Given the description of an element on the screen output the (x, y) to click on. 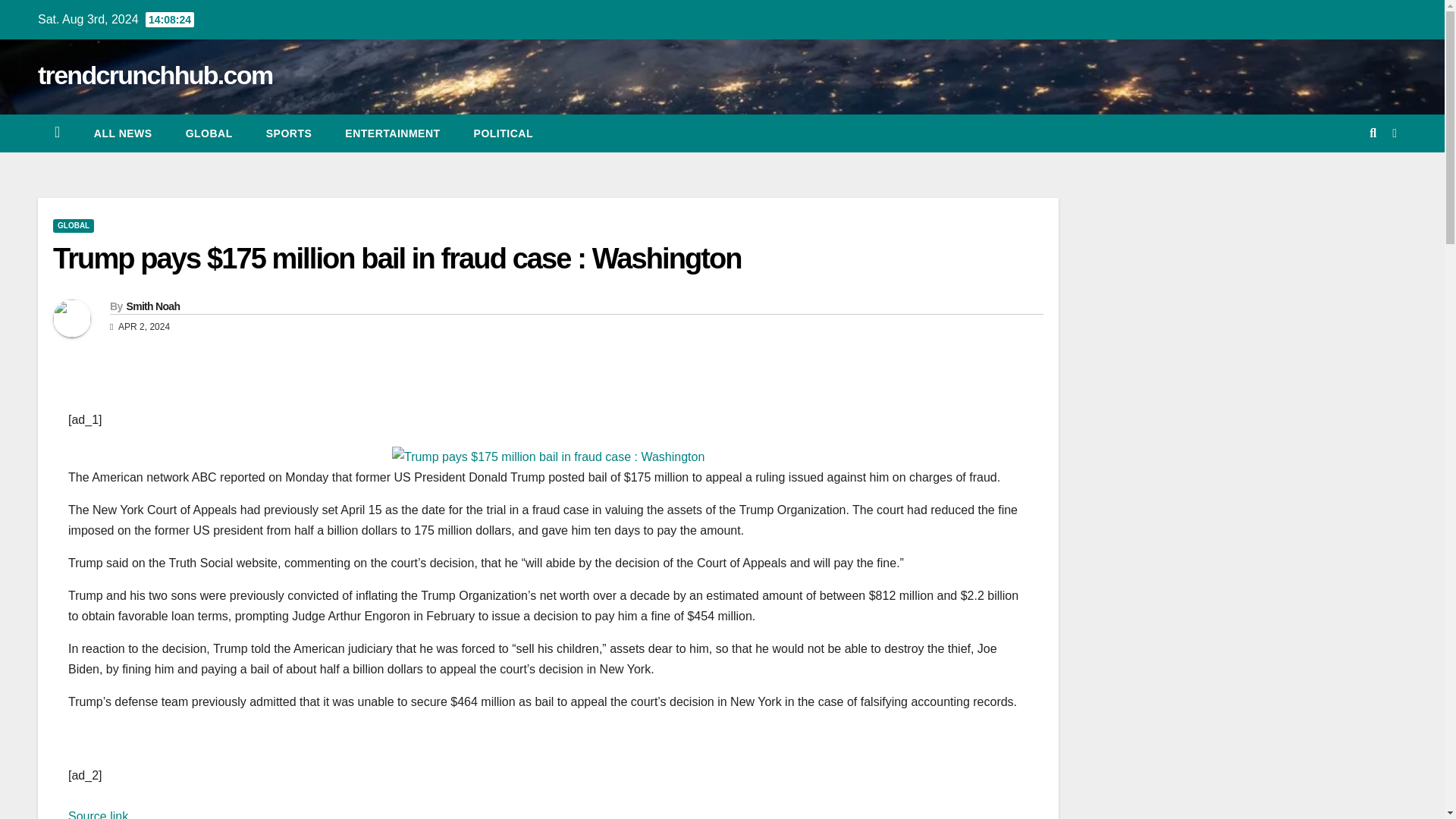
trendcrunchhub.com (154, 74)
entertainment (393, 133)
Smith Noah (152, 306)
ENTERTAINMENT (393, 133)
Global (208, 133)
GLOBAL (73, 225)
Source link (98, 814)
political (503, 133)
SPORTS (288, 133)
Sports (288, 133)
